Given the description of an element on the screen output the (x, y) to click on. 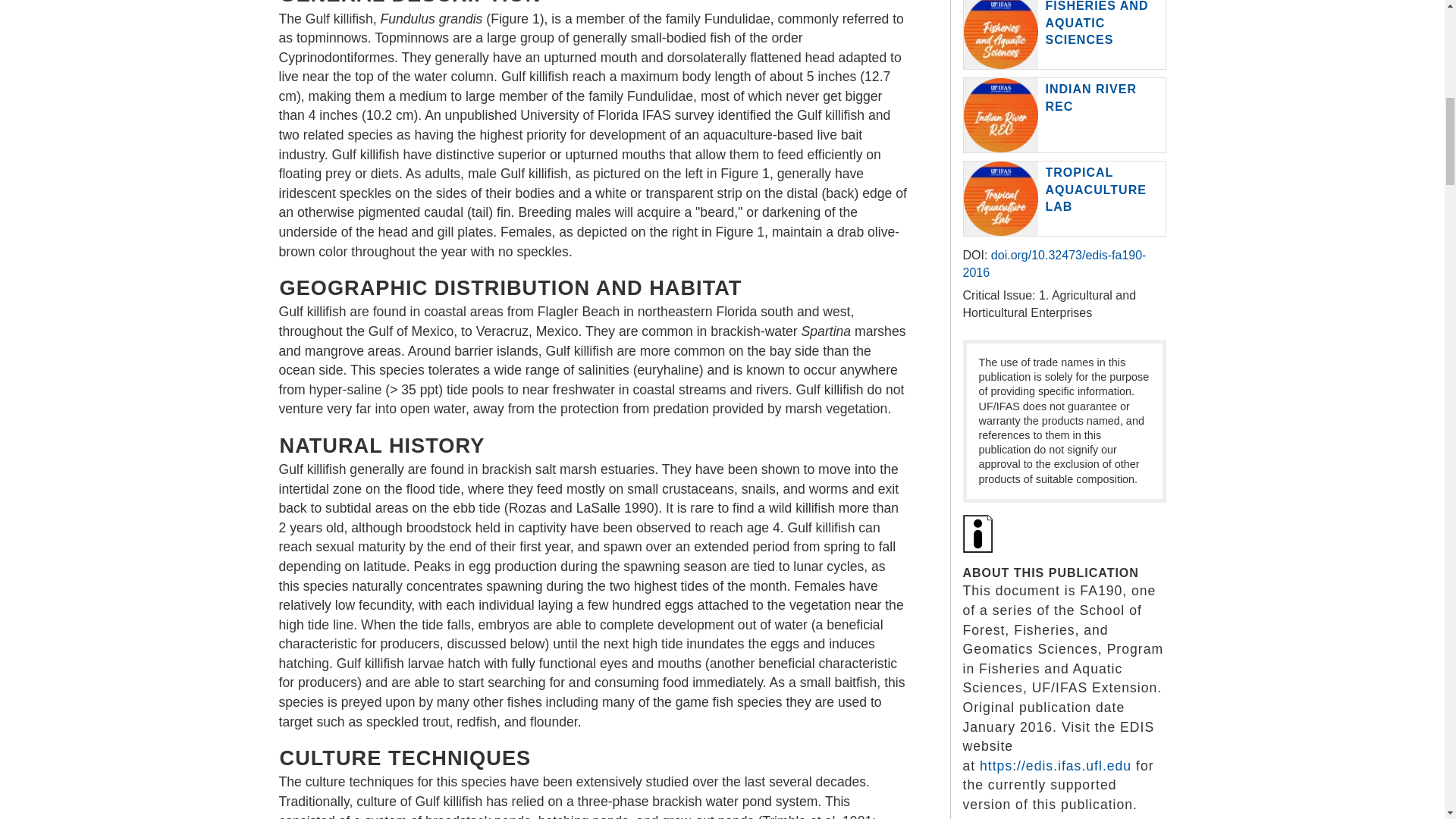
INDIAN RIVER REC (1090, 97)
Fisheries and Aquatic Sciences (1096, 22)
FISHERIES AND AQUATIC SCIENCES (1096, 22)
Tropical Aquaculture Lab (1095, 189)
Fact Sheet (977, 533)
Indian River REC (1090, 97)
TROPICAL AQUACULTURE LAB (1095, 189)
